Given the description of an element on the screen output the (x, y) to click on. 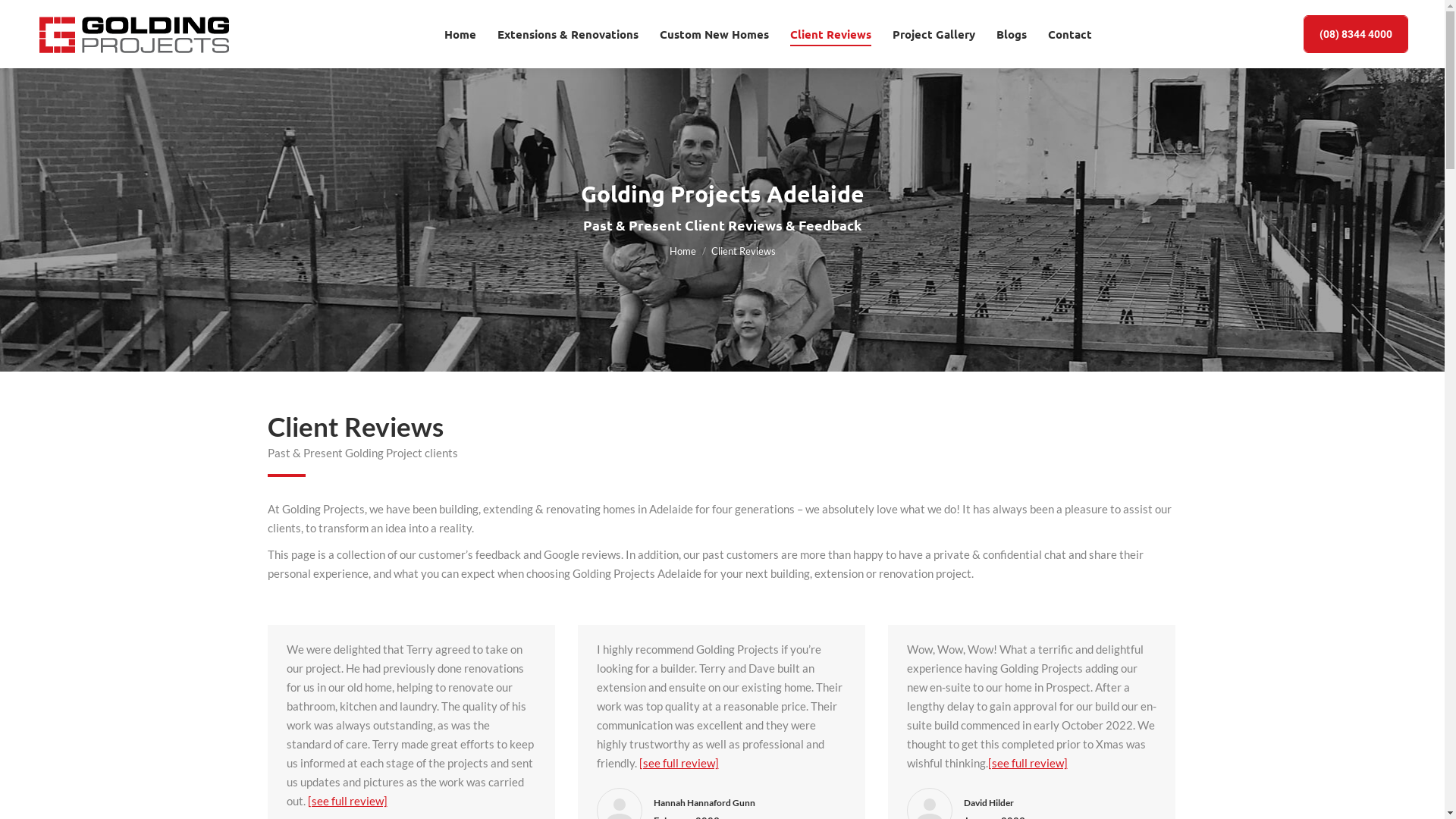
Client Reviews Element type: text (830, 33)
Blogs Element type: text (1011, 33)
Home Element type: text (681, 250)
Contact Element type: text (1069, 33)
Home Element type: text (460, 33)
Custom New Homes Element type: text (713, 33)
[see full review] Element type: text (678, 762)
Project Gallery Element type: text (932, 33)
[see full review] Element type: text (347, 800)
(08) 8344 4000 Element type: text (1355, 34)
[see full review] Element type: text (1026, 762)
Extensions & Renovations Element type: text (567, 33)
